Given the description of an element on the screen output the (x, y) to click on. 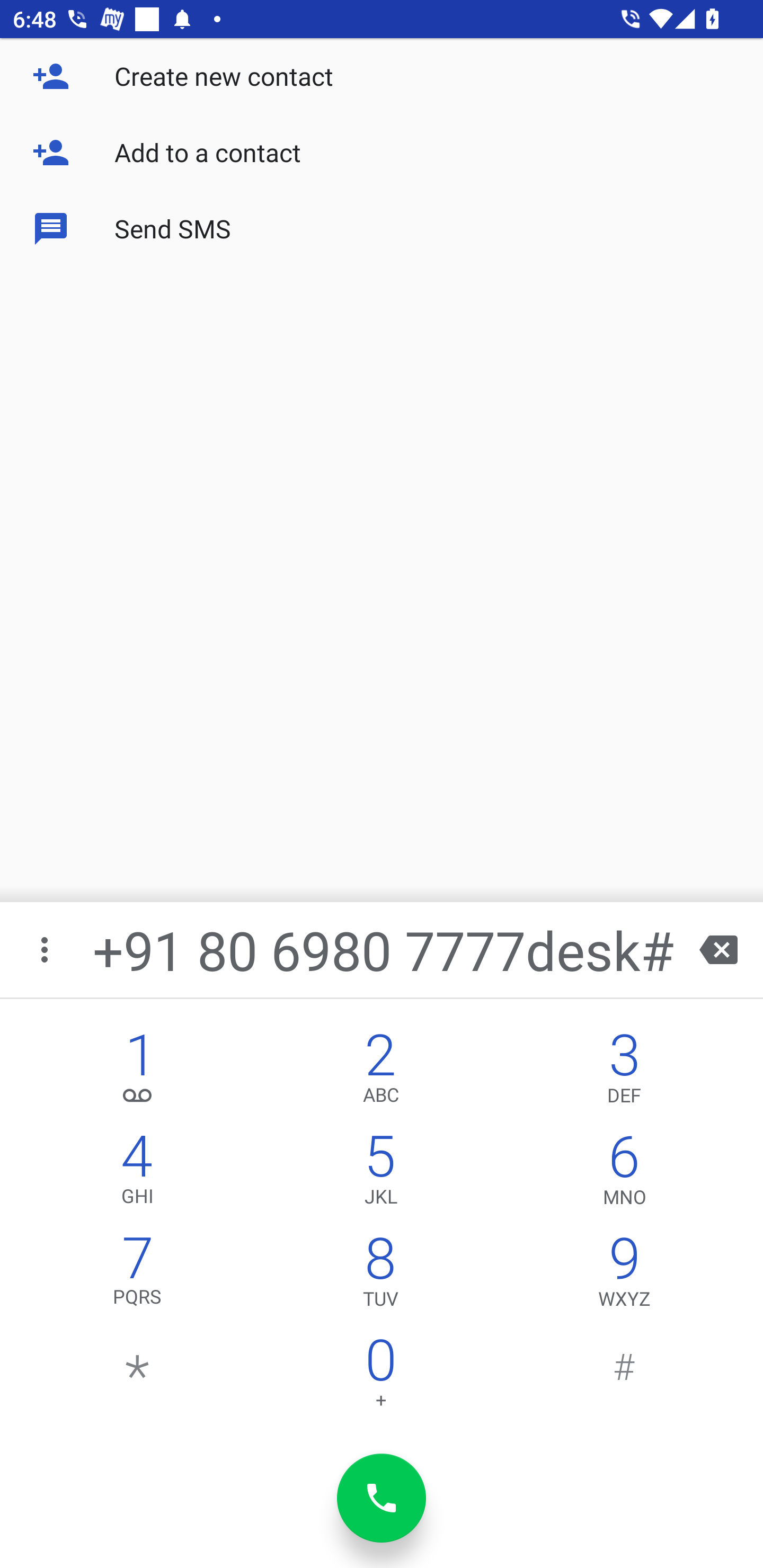
Create new contact (381, 75)
Add to a contact (381, 152)
Send SMS (381, 228)
+91 80 6980 7777desk# (382, 949)
backspace (718, 949)
More options (45, 949)
1, 1 (137, 1071)
2,ABC 2 ABC (380, 1071)
3,DEF 3 DEF (624, 1071)
4,GHI 4 GHI (137, 1173)
5,JKL 5 JKL (380, 1173)
6,MNO 6 MNO (624, 1173)
7,PQRS 7 PQRS (137, 1275)
8,TUV 8 TUV (380, 1275)
9,WXYZ 9 WXYZ (624, 1275)
* (137, 1377)
0 0 + (380, 1377)
# (624, 1377)
dial (381, 1497)
